Given the description of an element on the screen output the (x, y) to click on. 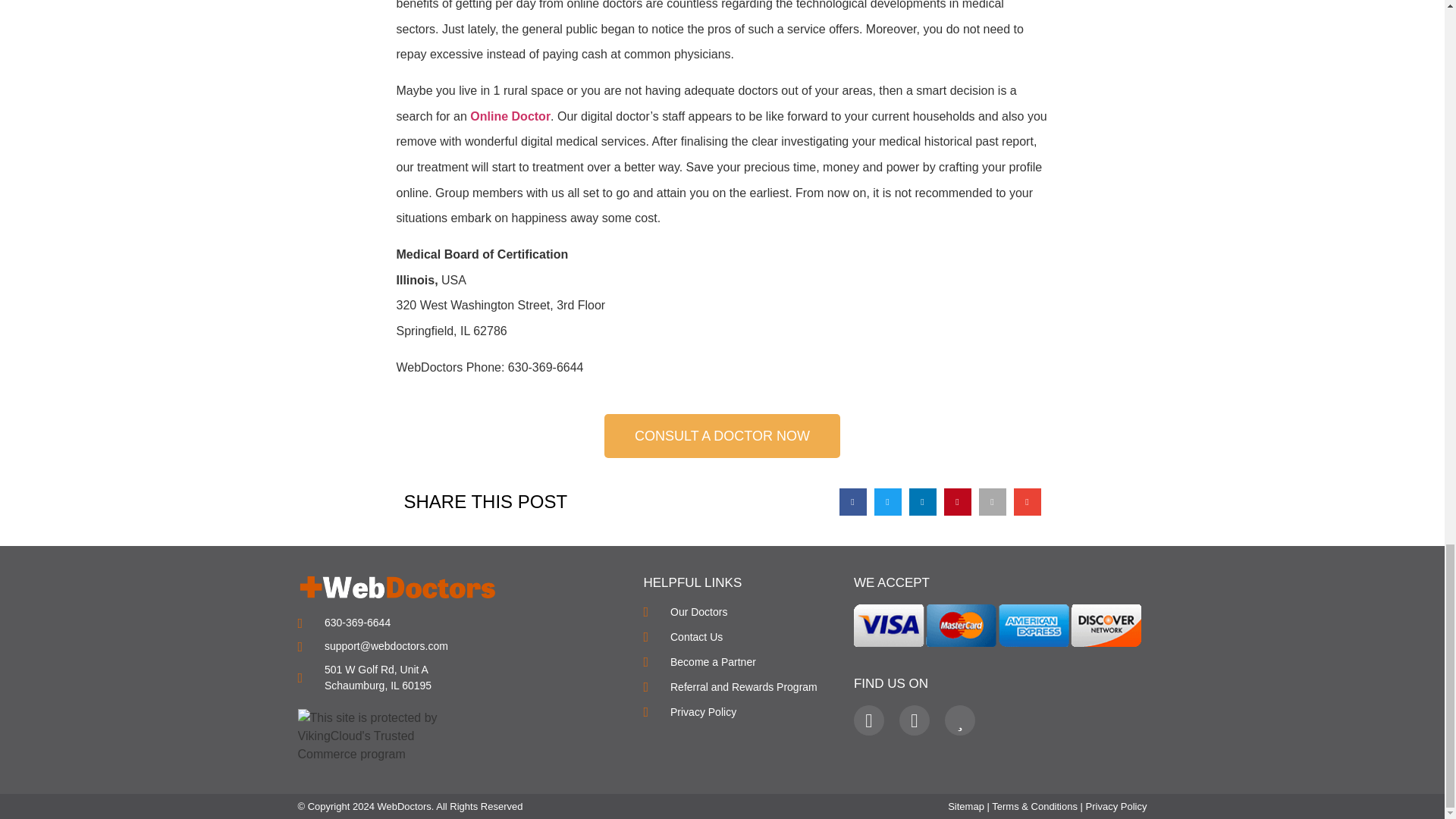
CONSULT A DOCTOR NOW (722, 435)
Online Doctor (510, 115)
